Given the description of an element on the screen output the (x, y) to click on. 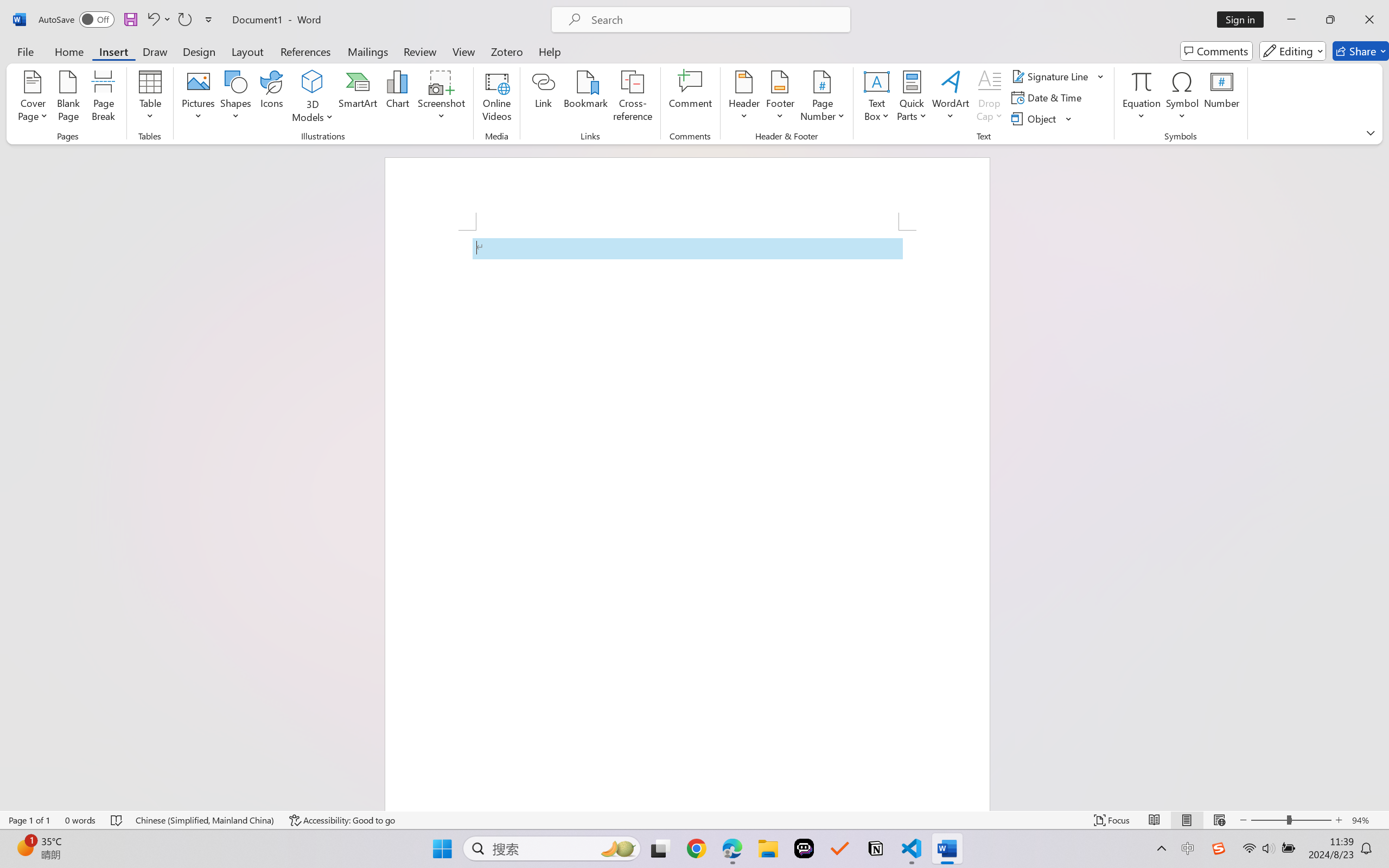
Page Break (103, 97)
Table (149, 97)
